Given the description of an element on the screen output the (x, y) to click on. 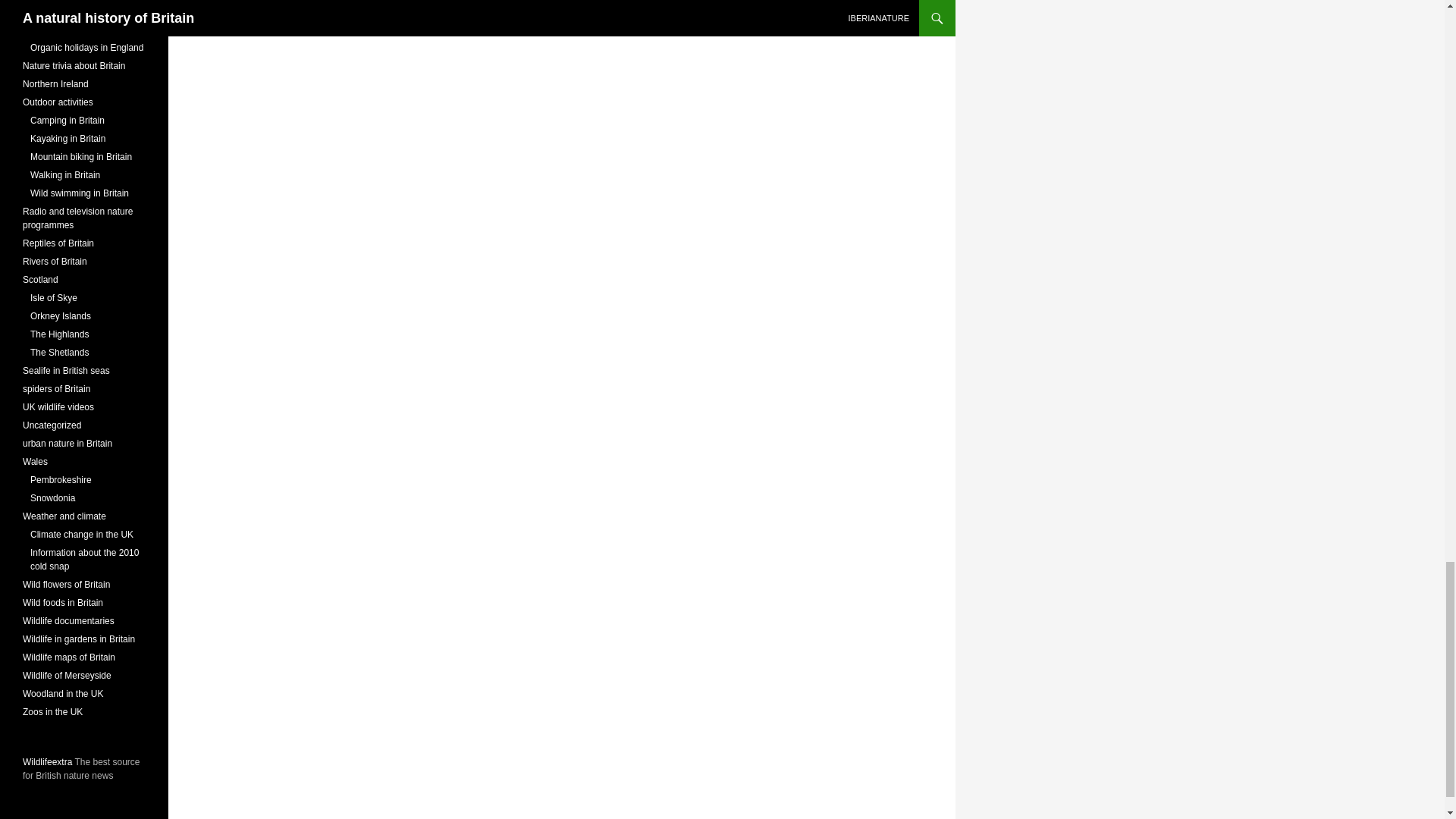
wildlifeextra (48, 761)
